Given the description of an element on the screen output the (x, y) to click on. 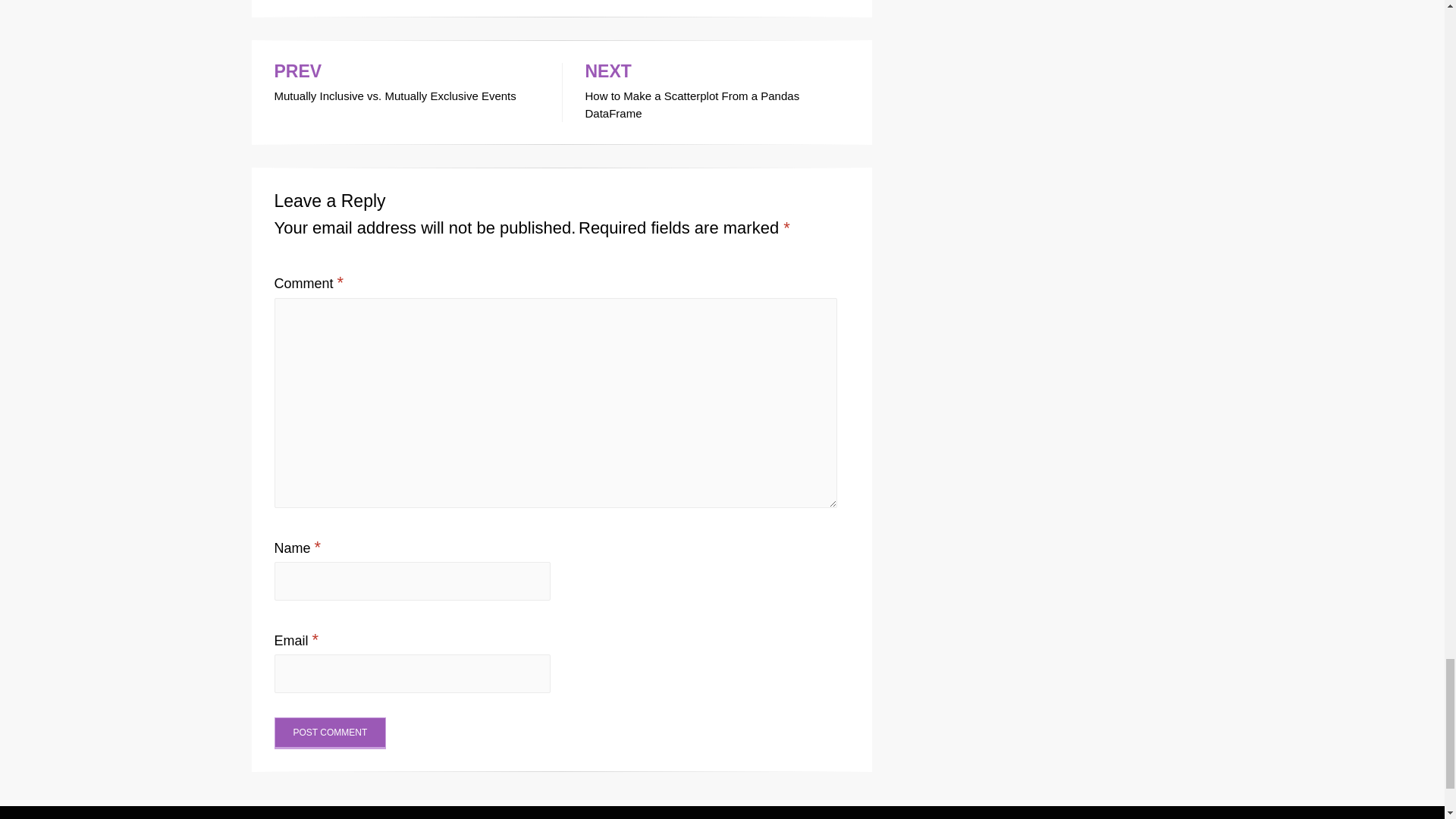
Post Comment (406, 84)
Post Comment (331, 733)
